Given the description of an element on the screen output the (x, y) to click on. 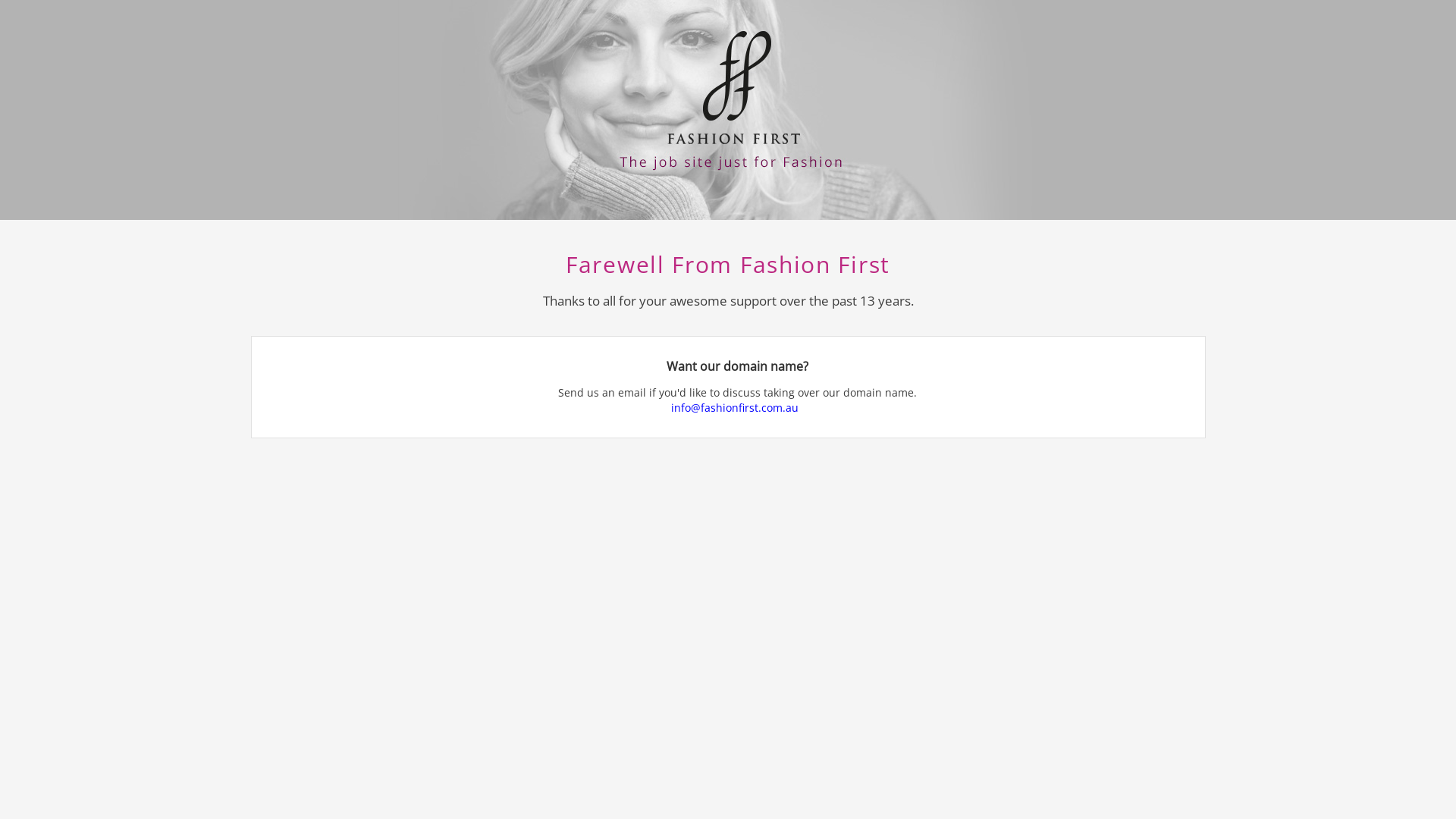
info@fashionfirst.com.au Element type: text (737, 407)
